Given the description of an element on the screen output the (x, y) to click on. 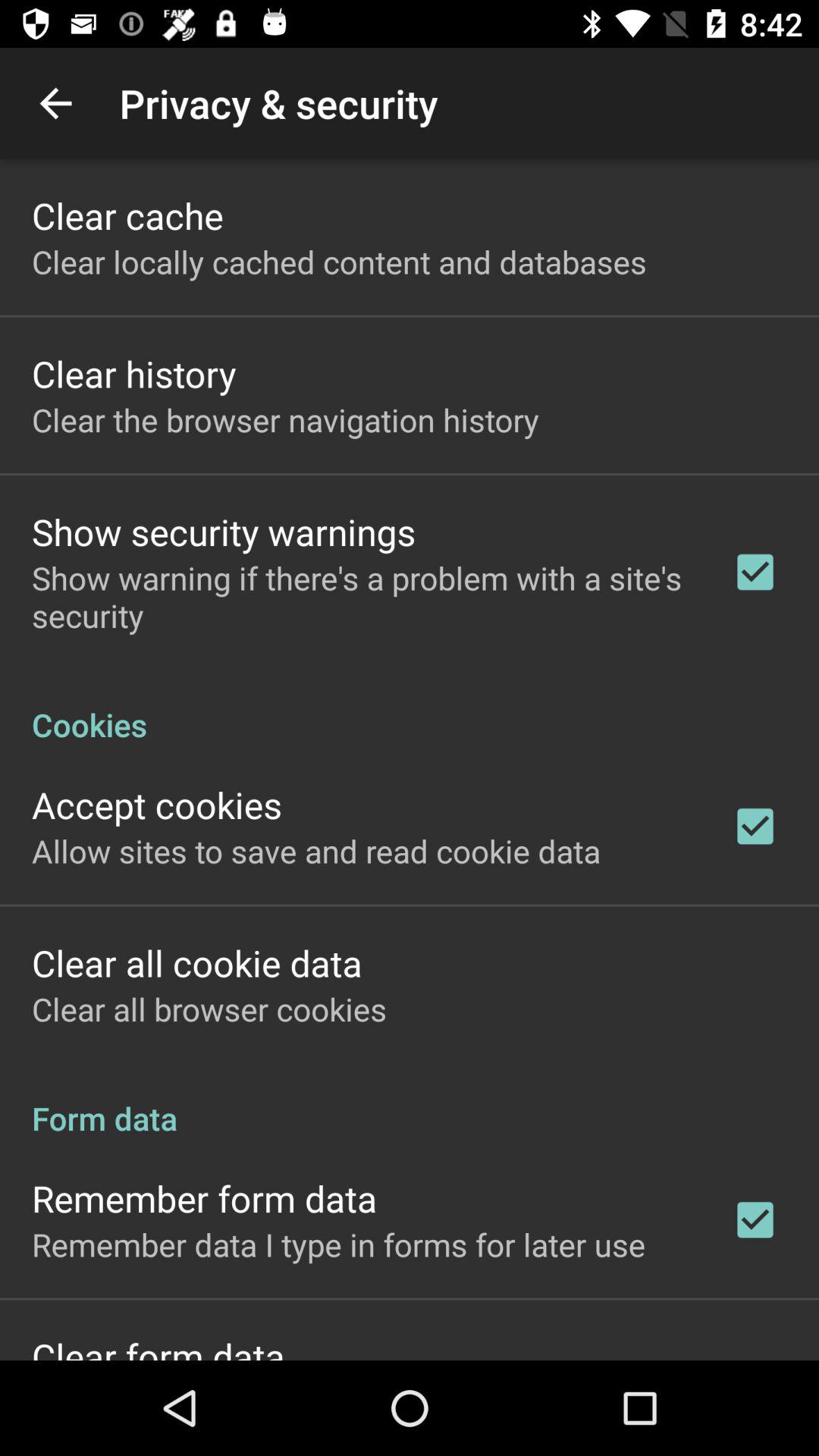
tap the item above clear cache app (55, 103)
